Given the description of an element on the screen output the (x, y) to click on. 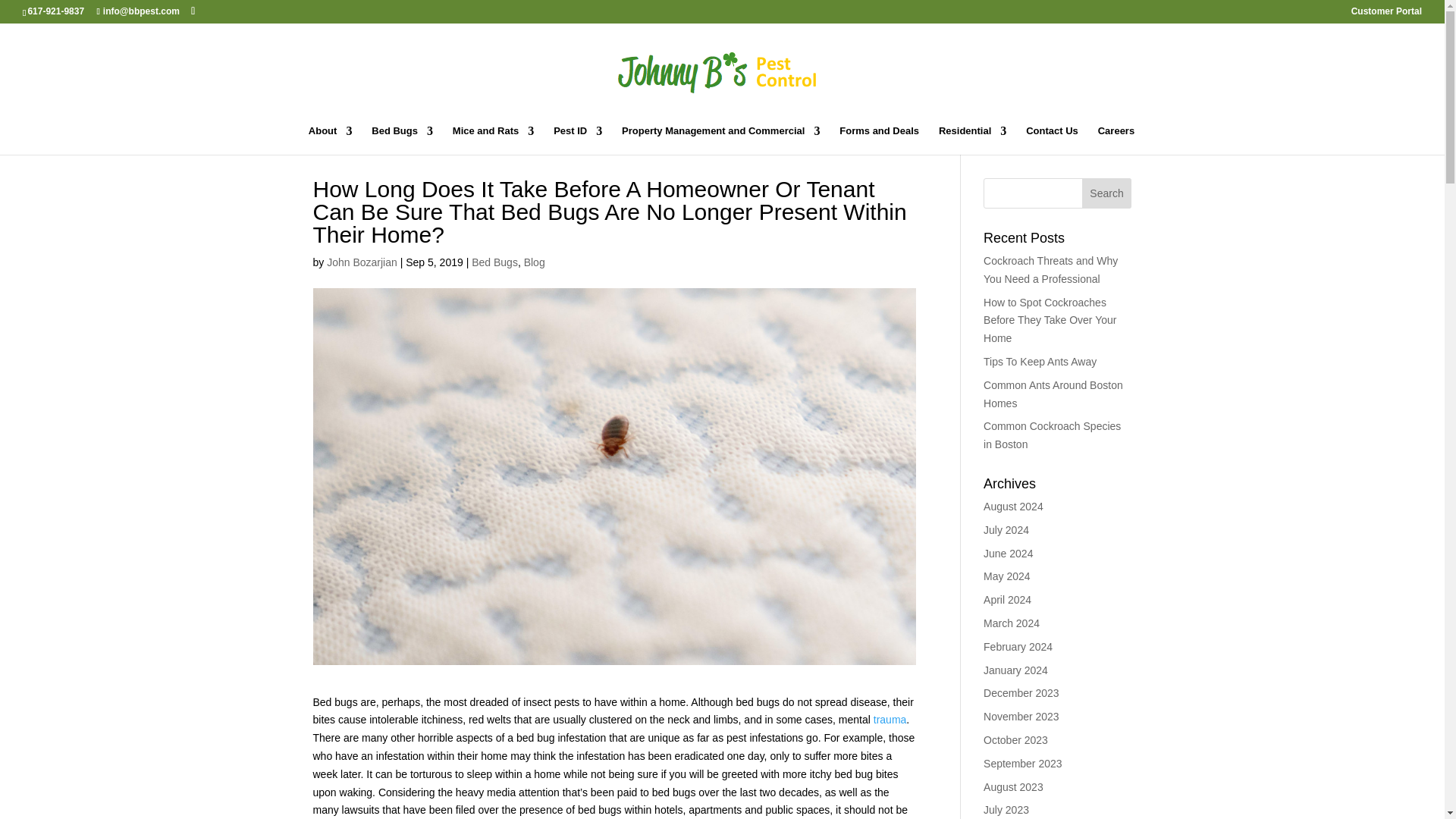
Forms and Deals (879, 140)
Contact Us (1052, 140)
Posts by John Bozarjian (361, 262)
Bed Bugs (401, 140)
Mice and Rats (493, 140)
Residential (972, 140)
Property Management and Commercial (720, 140)
Search (1106, 193)
Customer Portal (1386, 14)
Pest ID (577, 140)
